Given the description of an element on the screen output the (x, y) to click on. 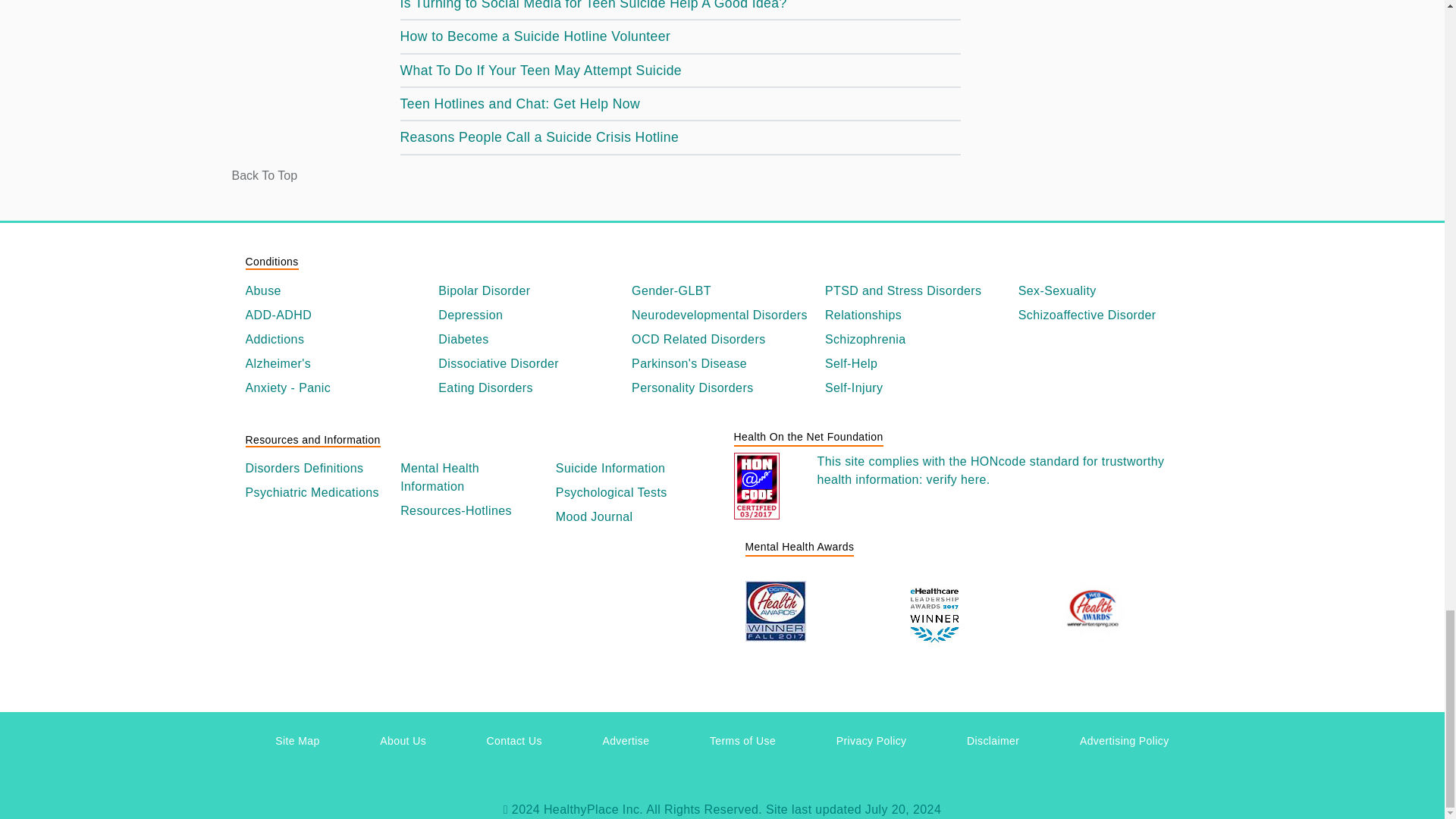
Parkinson's Disease Information Articles (721, 363)
